Given the description of an element on the screen output the (x, y) to click on. 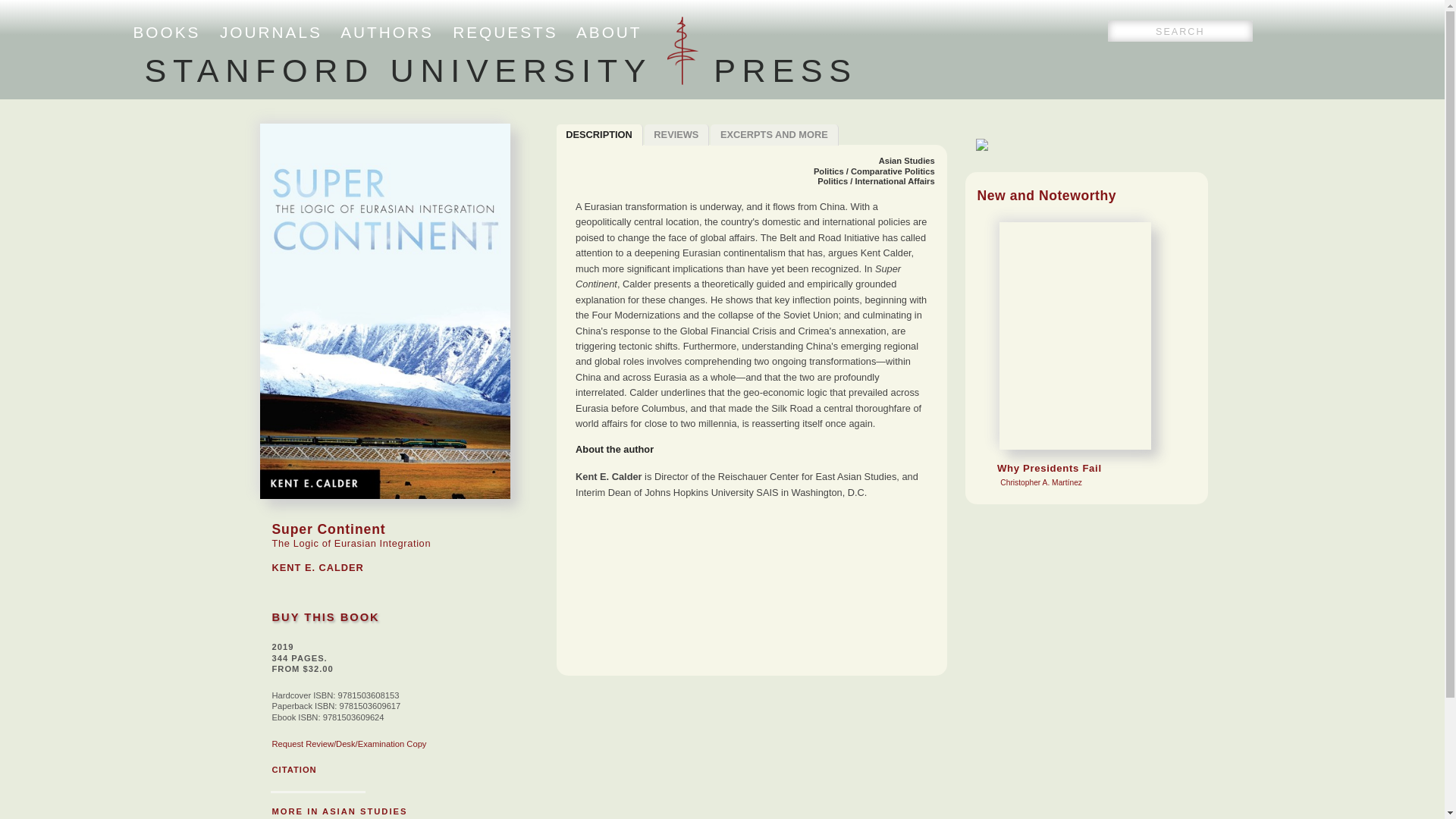
Asian Studies (906, 160)
JOURNALS (270, 31)
STANFORD UNIVERSITY PRESS (500, 70)
DESCRIPTION (599, 134)
REVIEWS (677, 134)
BUY THIS BOOK (324, 616)
CITATION (292, 768)
ABOUT (609, 31)
MORE IN ASIAN STUDIES (338, 810)
BOOKS (166, 31)
REQUESTS (504, 31)
AUTHORS (386, 31)
